Given the description of an element on the screen output the (x, y) to click on. 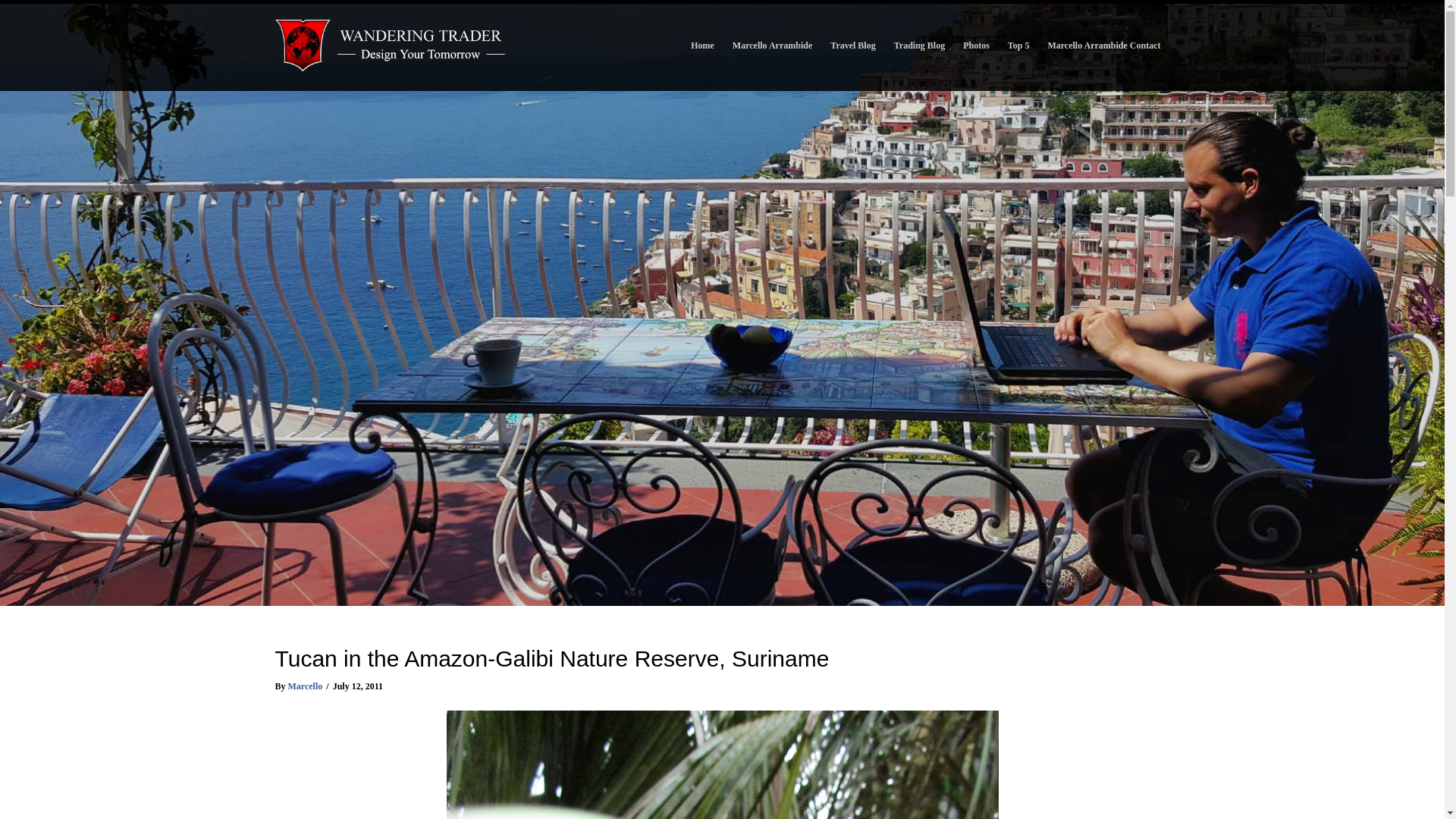
tucan in the amazon galibi suriname (721, 764)
WanderingTrader (390, 45)
View all posts by Marcello (305, 685)
Photos (975, 45)
Travel Blog (852, 45)
Marcello Arrambide (772, 45)
Travel Blog (852, 45)
Marcello (305, 685)
Marcello Arrambide Contact (1103, 45)
Home (702, 45)
